Given the description of an element on the screen output the (x, y) to click on. 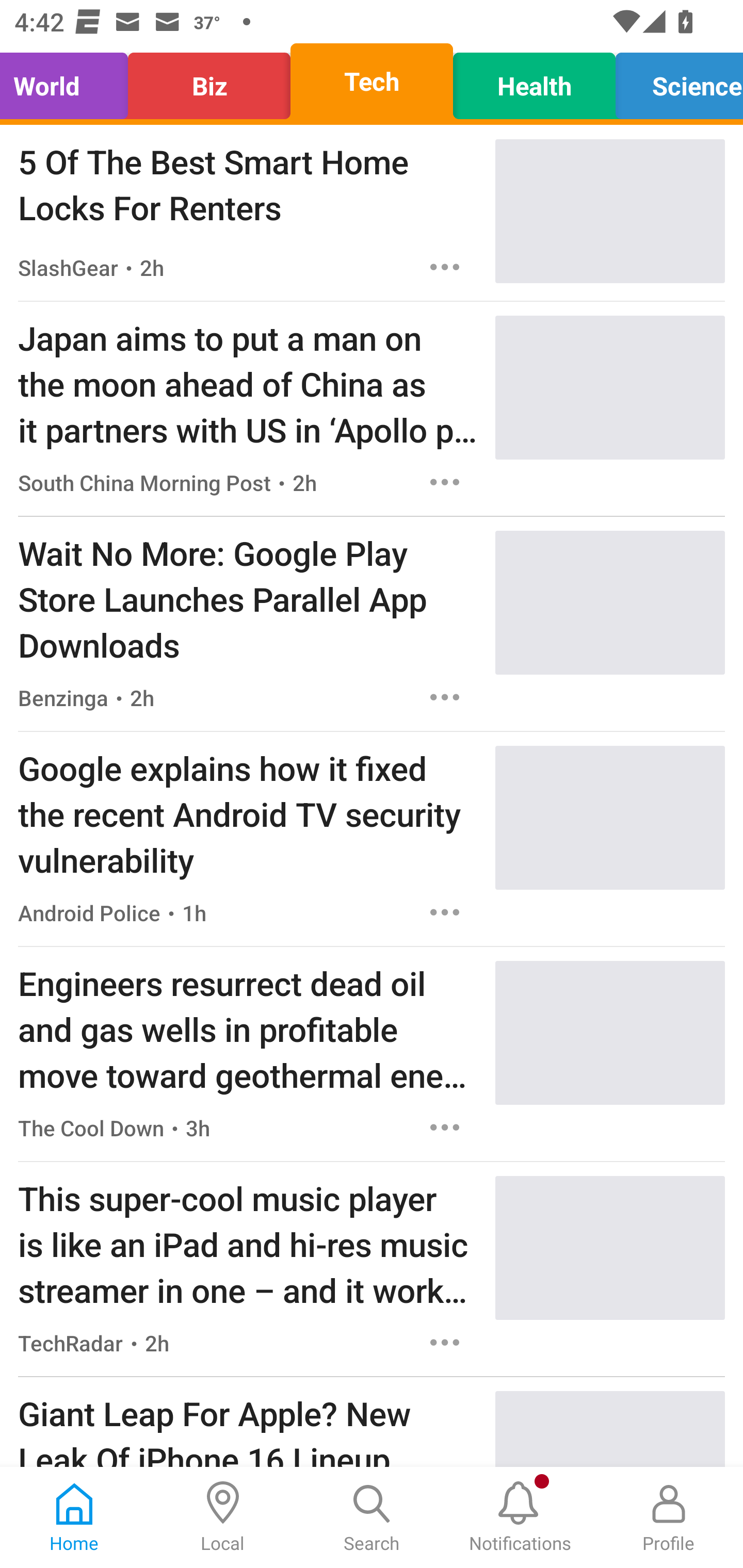
World (69, 81)
Biz (209, 81)
Tech (371, 81)
Health (534, 81)
Science (673, 81)
Options (444, 267)
Options (444, 481)
Options (444, 697)
Options (444, 912)
Options (444, 1127)
Options (444, 1342)
Local (222, 1517)
Search (371, 1517)
Notifications, New notification Notifications (519, 1517)
Profile (668, 1517)
